Given the description of an element on the screen output the (x, y) to click on. 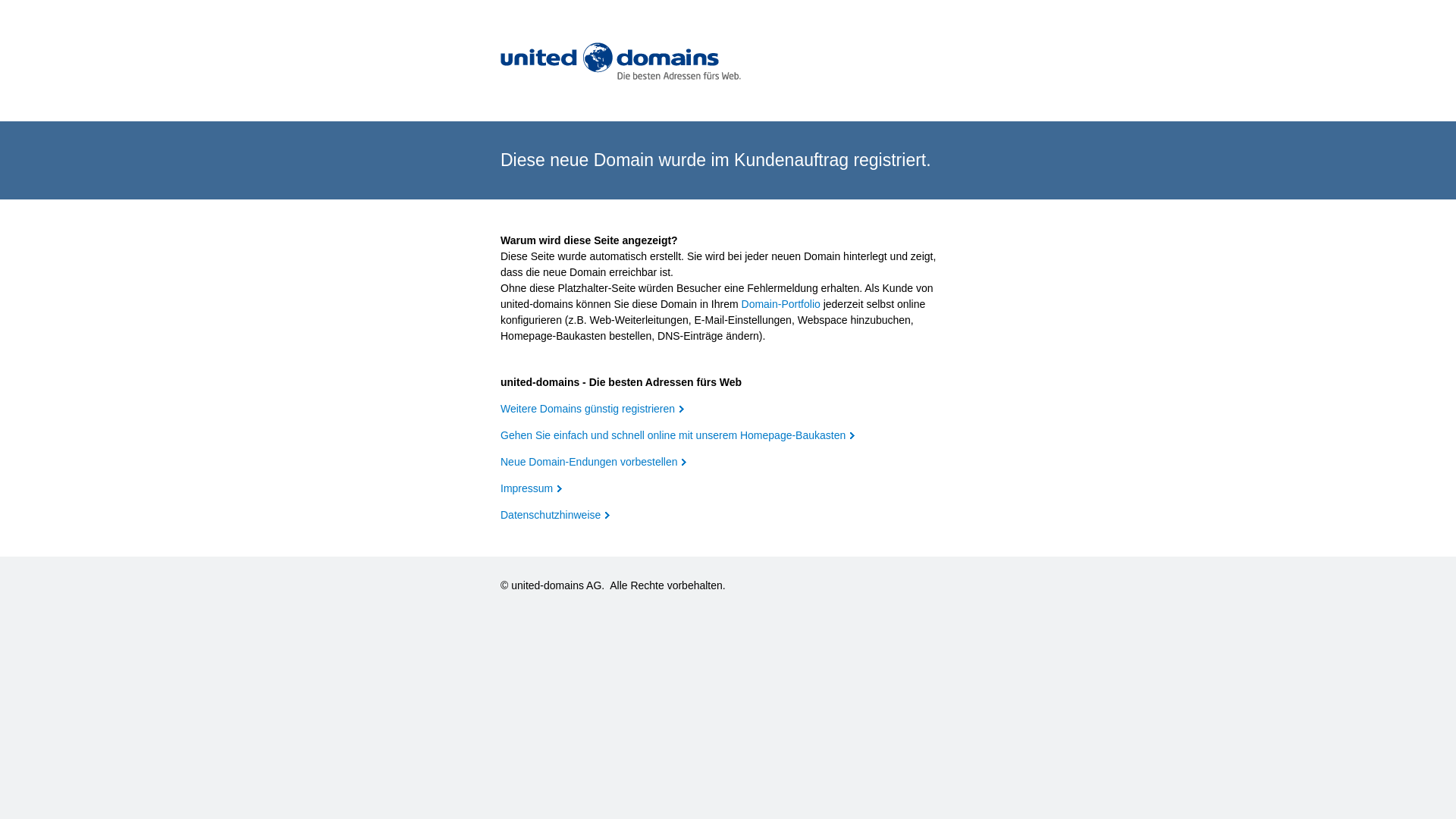
Neue Domain-Endungen vorbestellen Element type: text (593, 461)
Datenschutzhinweise Element type: text (554, 514)
Domain-Portfolio Element type: text (780, 304)
Impressum Element type: text (530, 488)
